Given the description of an element on the screen output the (x, y) to click on. 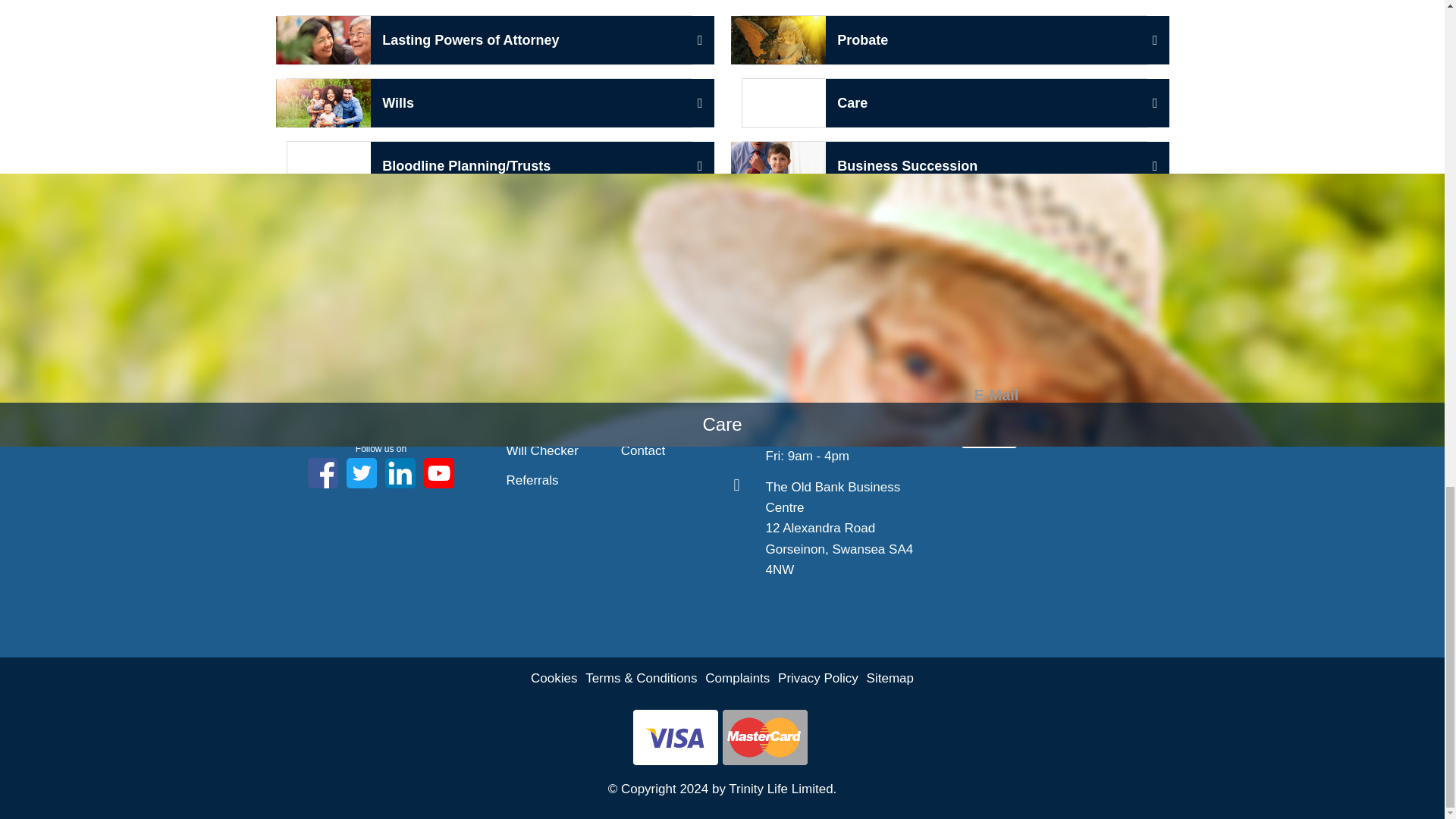
About (523, 390)
Home (523, 361)
Probate (944, 40)
Wills (489, 102)
Services (531, 421)
Care (944, 102)
YouTube (438, 472)
Lasting Powers of Attorney (381, 374)
LinkedIn (489, 40)
